Given the description of an element on the screen output the (x, y) to click on. 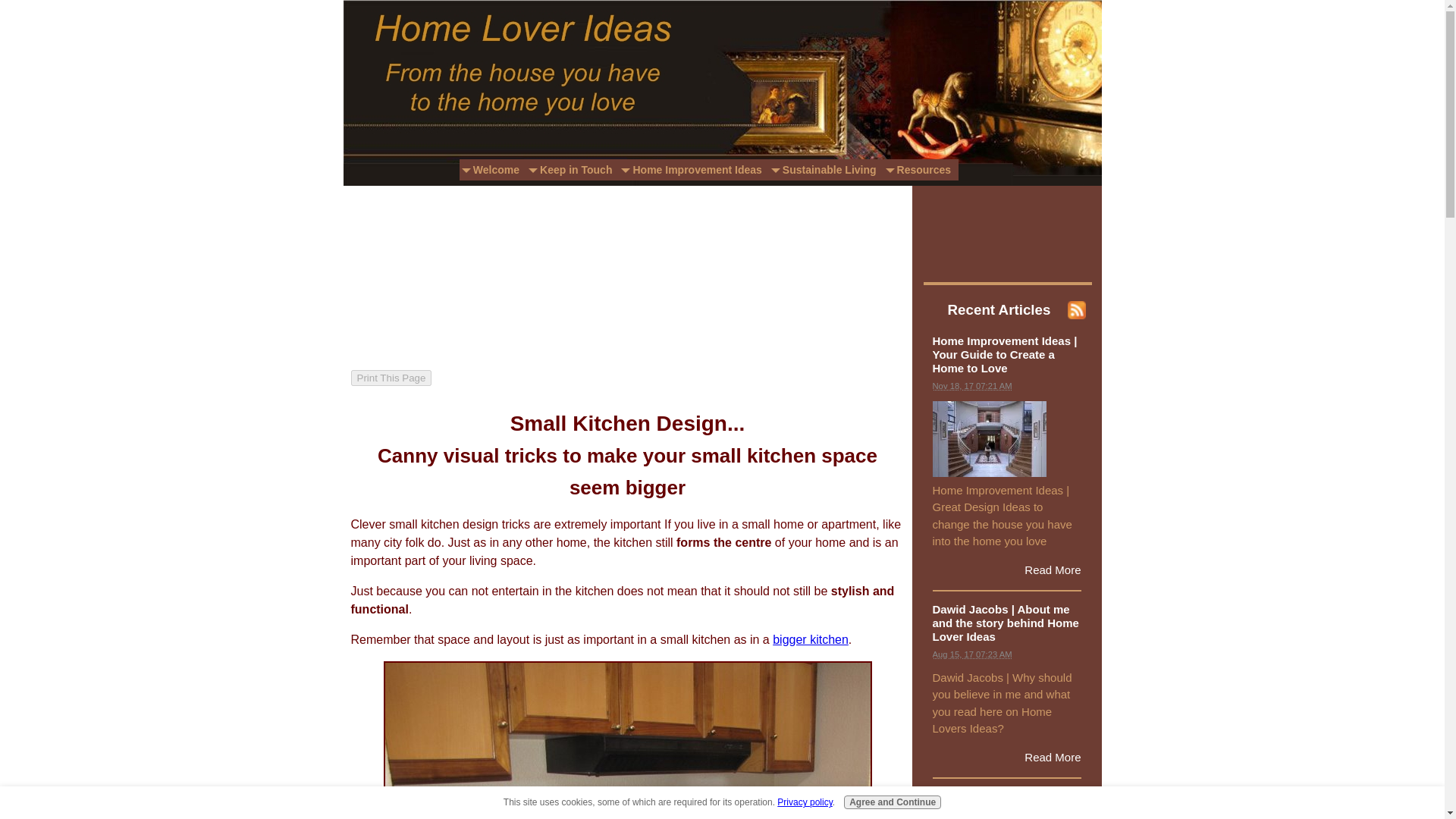
Recent Articles (999, 309)
Print This Page (390, 377)
2017-08-15T07:23:00-0400 (972, 654)
Read More (1052, 757)
Advertisement (426, 268)
bigger kitchen (810, 639)
Read More (1052, 569)
2017-11-18T07:21:33-0500 (972, 385)
